Given the description of an element on the screen output the (x, y) to click on. 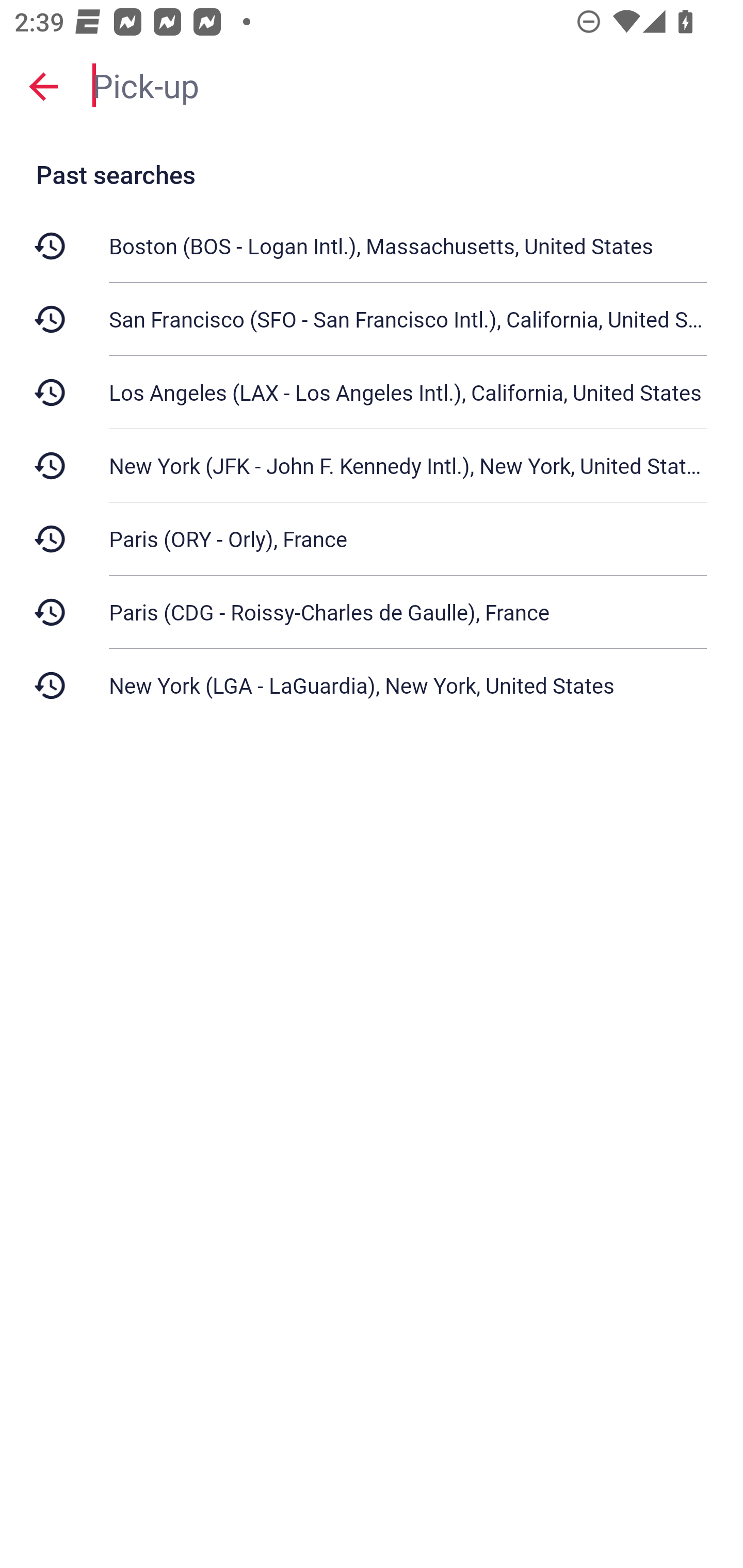
Pick-up,  (407, 85)
Close search screen (43, 86)
